Given the description of an element on the screen output the (x, y) to click on. 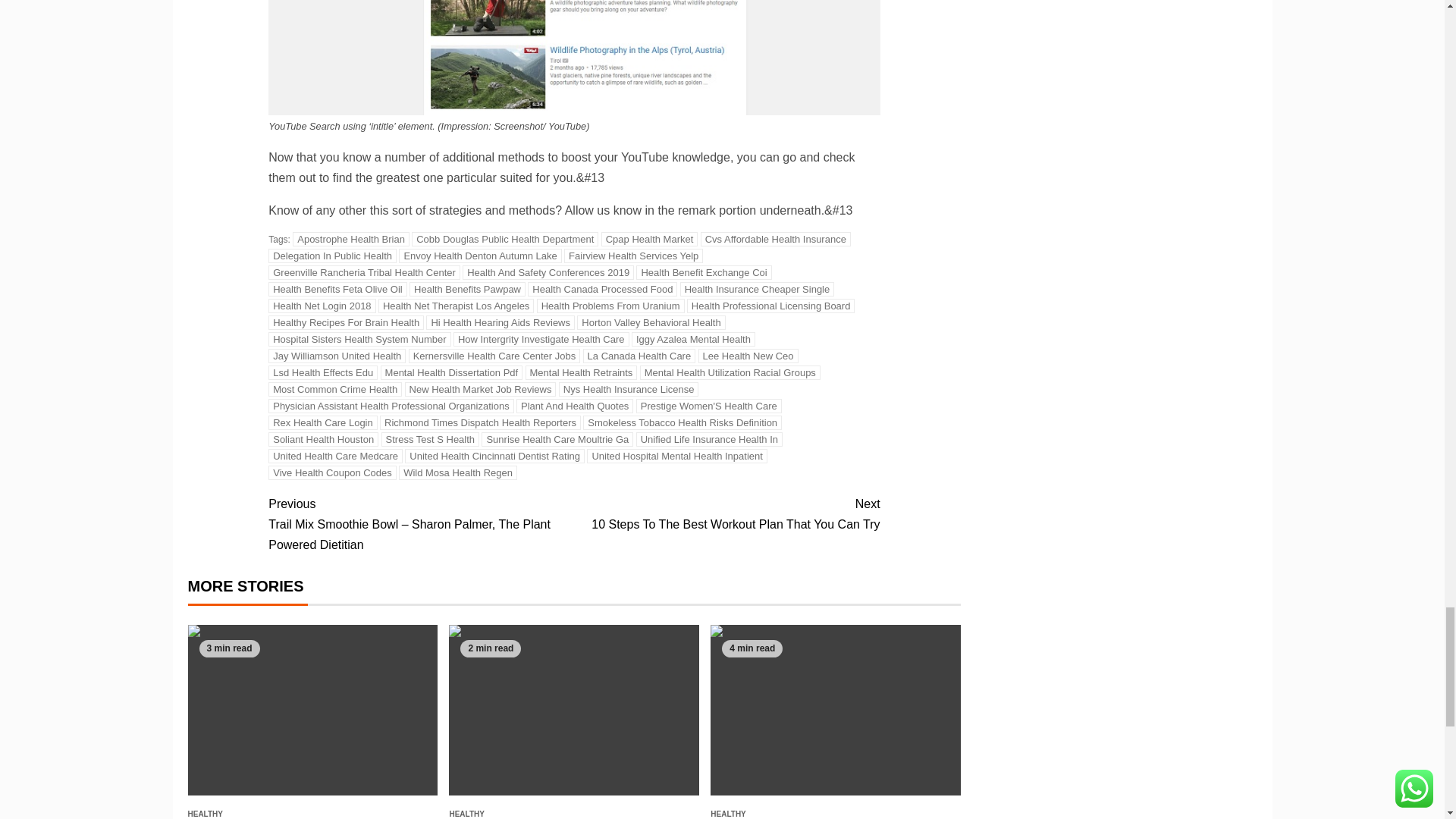
Great importance of Crucial Health issues Insurance coverage (835, 709)
